Given the description of an element on the screen output the (x, y) to click on. 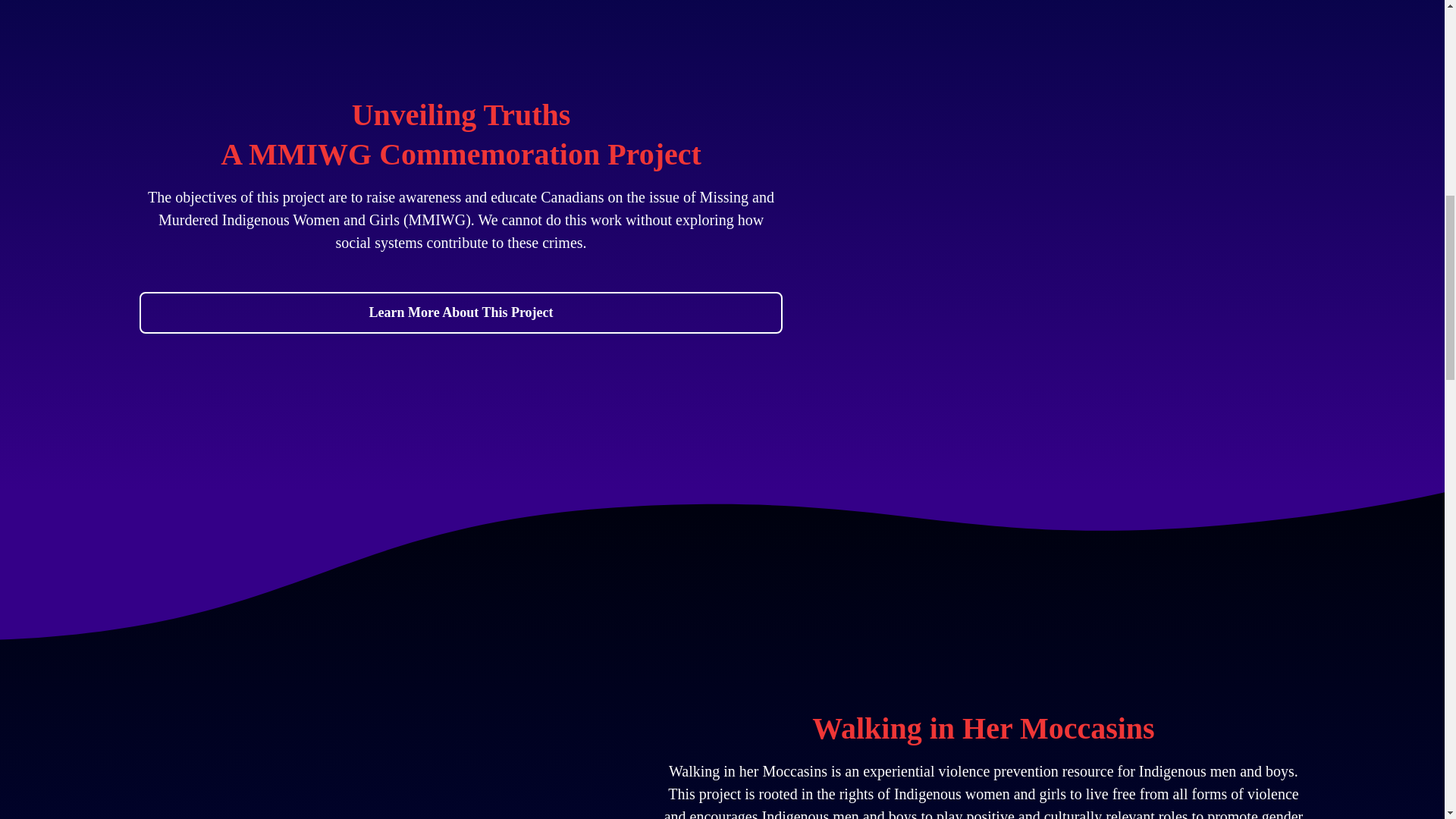
Walking-in-Her-Moccasins (330, 737)
Learn More About This Project (460, 312)
